Given the description of an element on the screen output the (x, y) to click on. 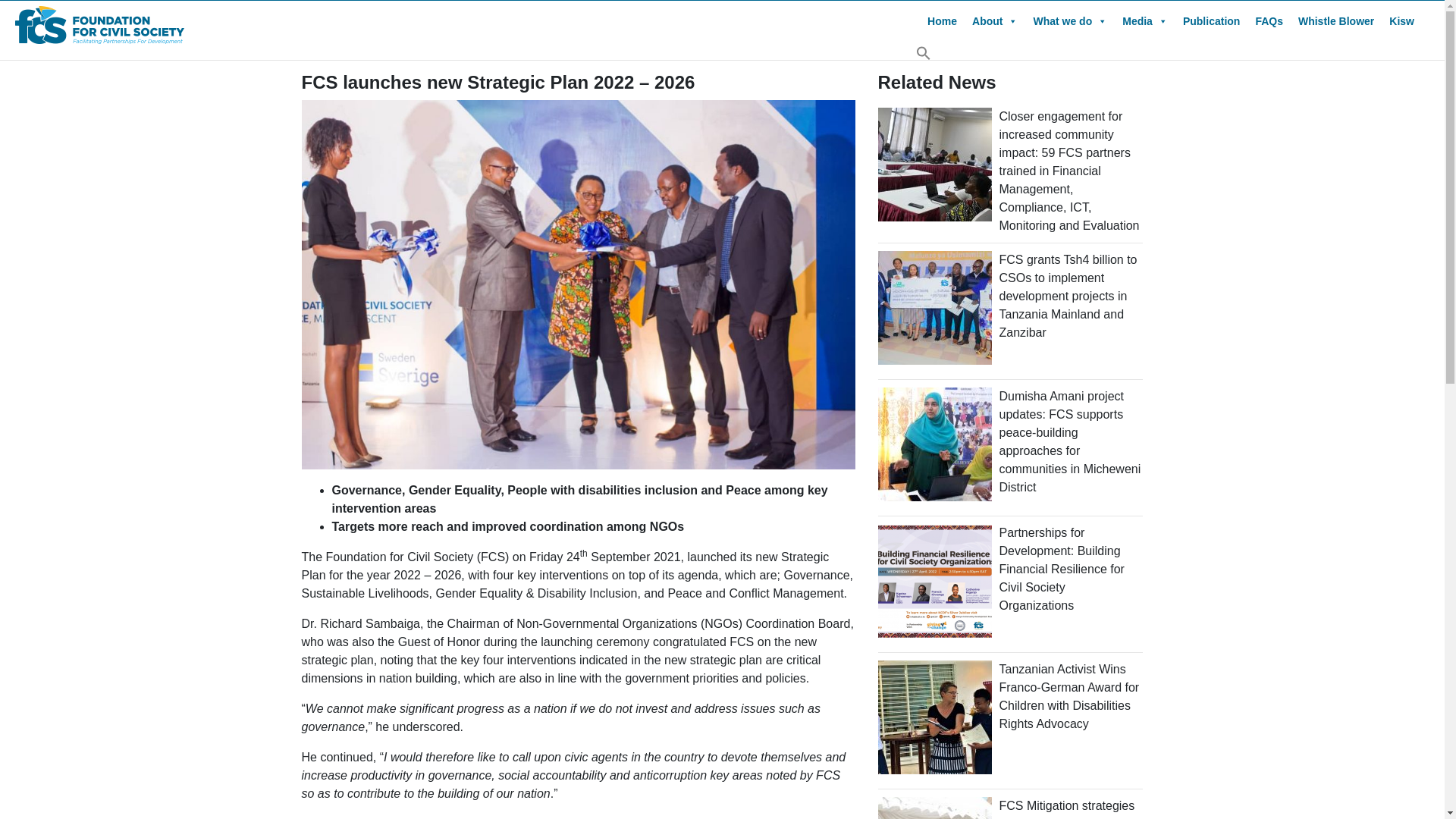
Whistle Blower (1335, 20)
Media (1144, 20)
FAQs (1268, 20)
Kisw (1401, 20)
What we do (1070, 20)
Home (941, 20)
Publication (1210, 20)
